Given the description of an element on the screen output the (x, y) to click on. 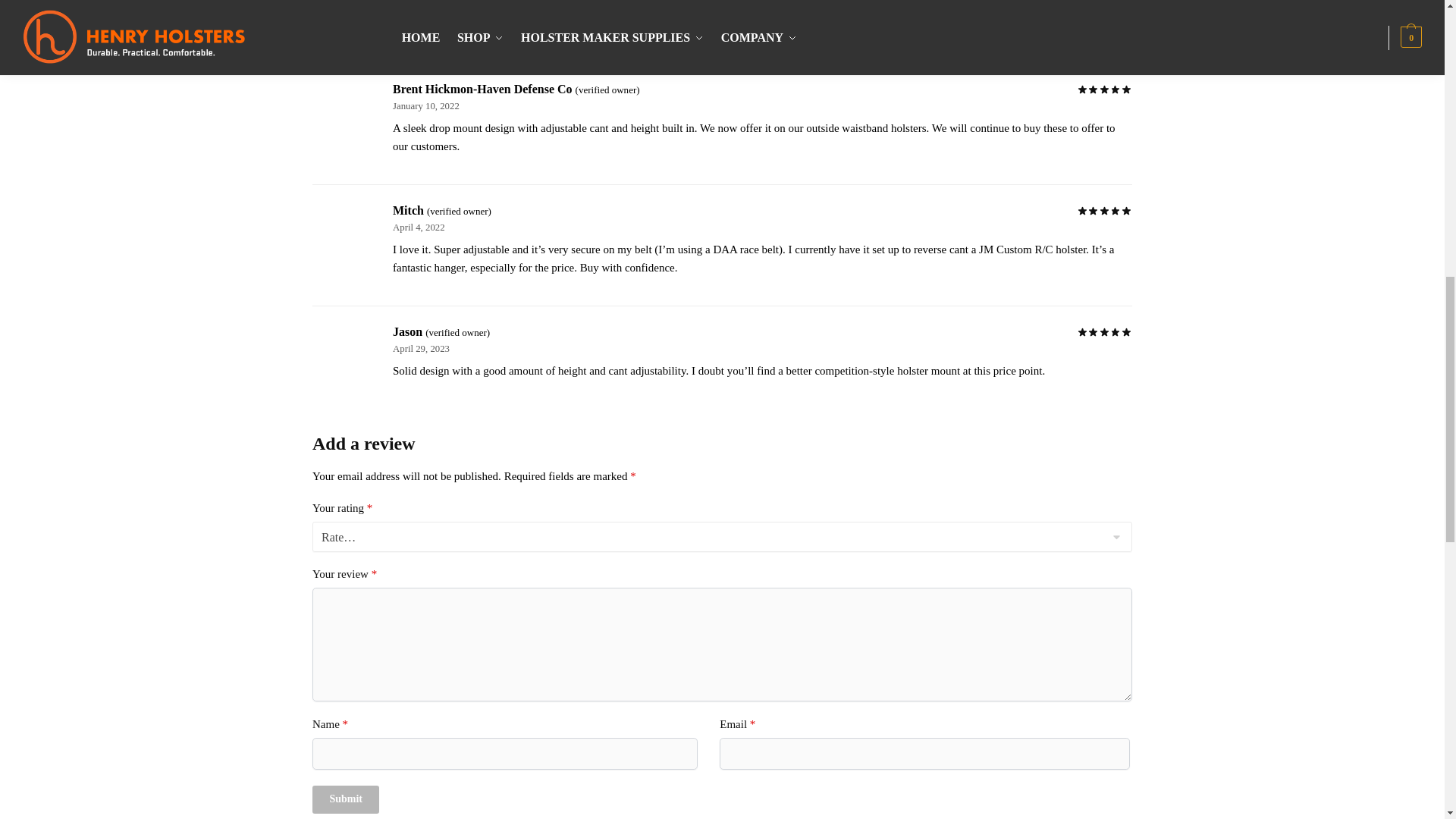
Submit (345, 799)
